Given the description of an element on the screen output the (x, y) to click on. 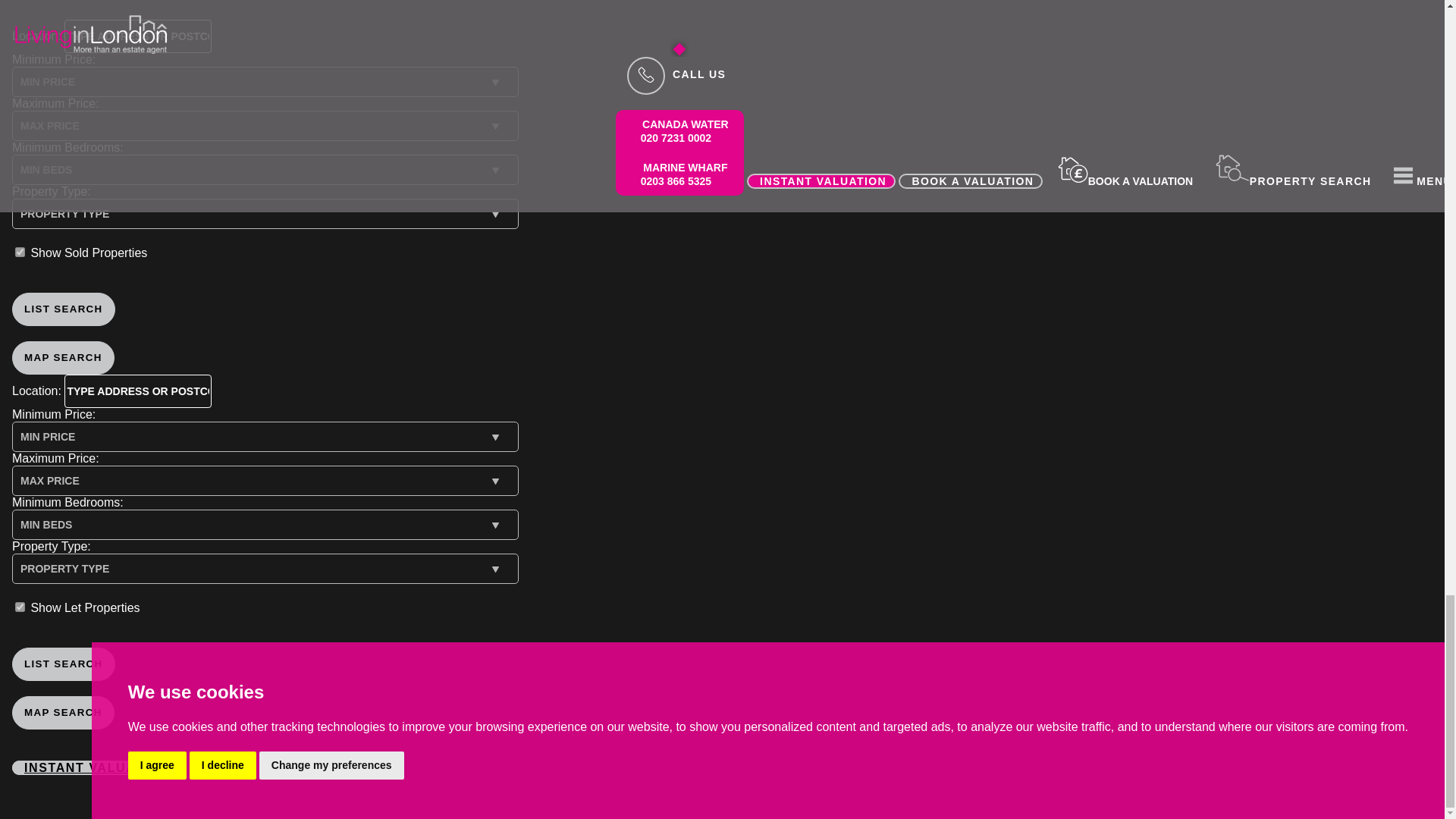
on (19, 606)
on (19, 252)
